Given the description of an element on the screen output the (x, y) to click on. 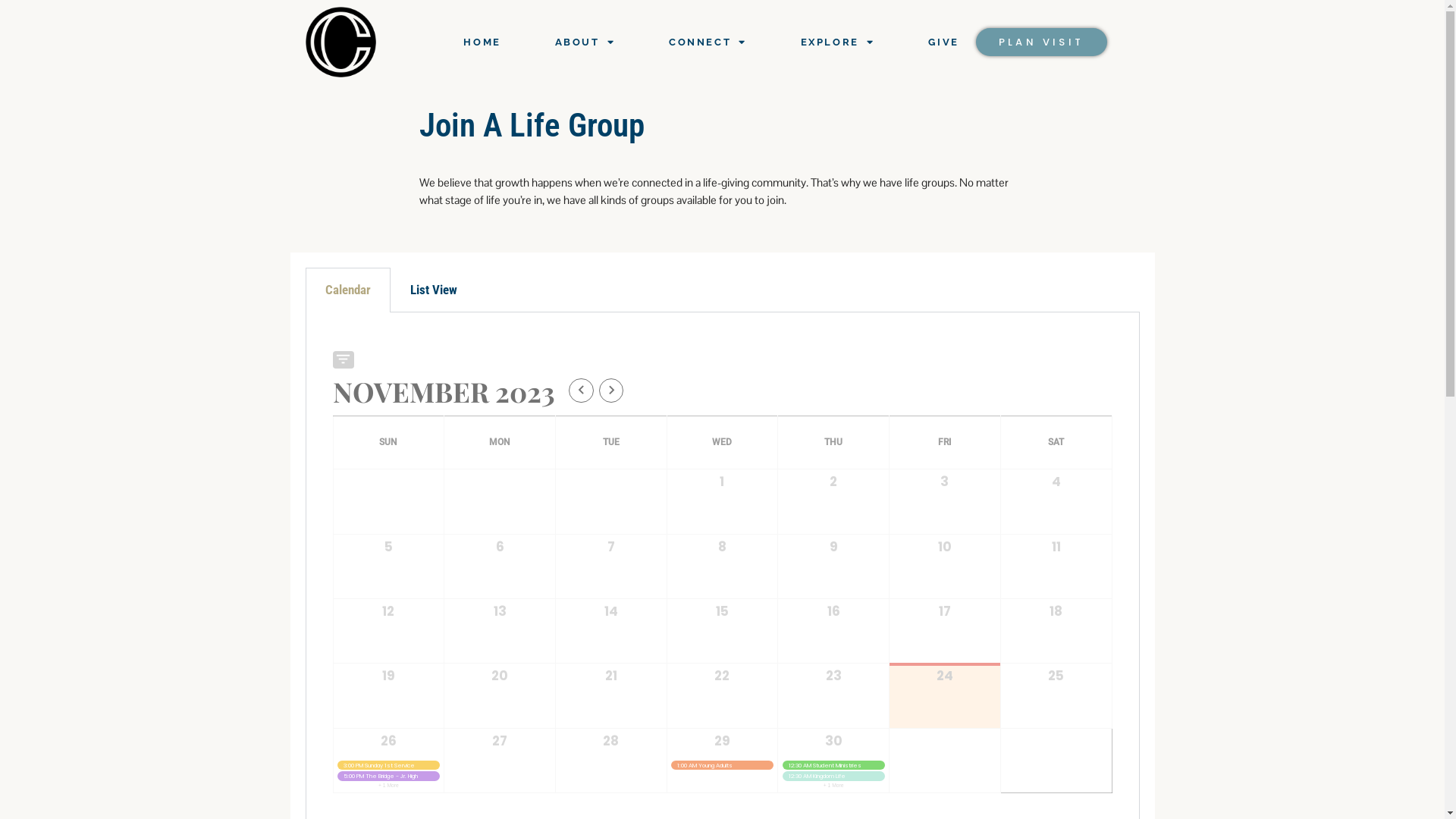
ABOUT Element type: text (584, 42)
HOME Element type: text (482, 42)
GIVE Element type: text (943, 42)
EXPLORE Element type: text (837, 42)
cropped-CrossingLogoBlackFavicon.png Element type: hover (340, 42)
CONNECT Element type: text (707, 42)
PLAN VISIT Element type: text (1041, 42)
